Given the description of an element on the screen output the (x, y) to click on. 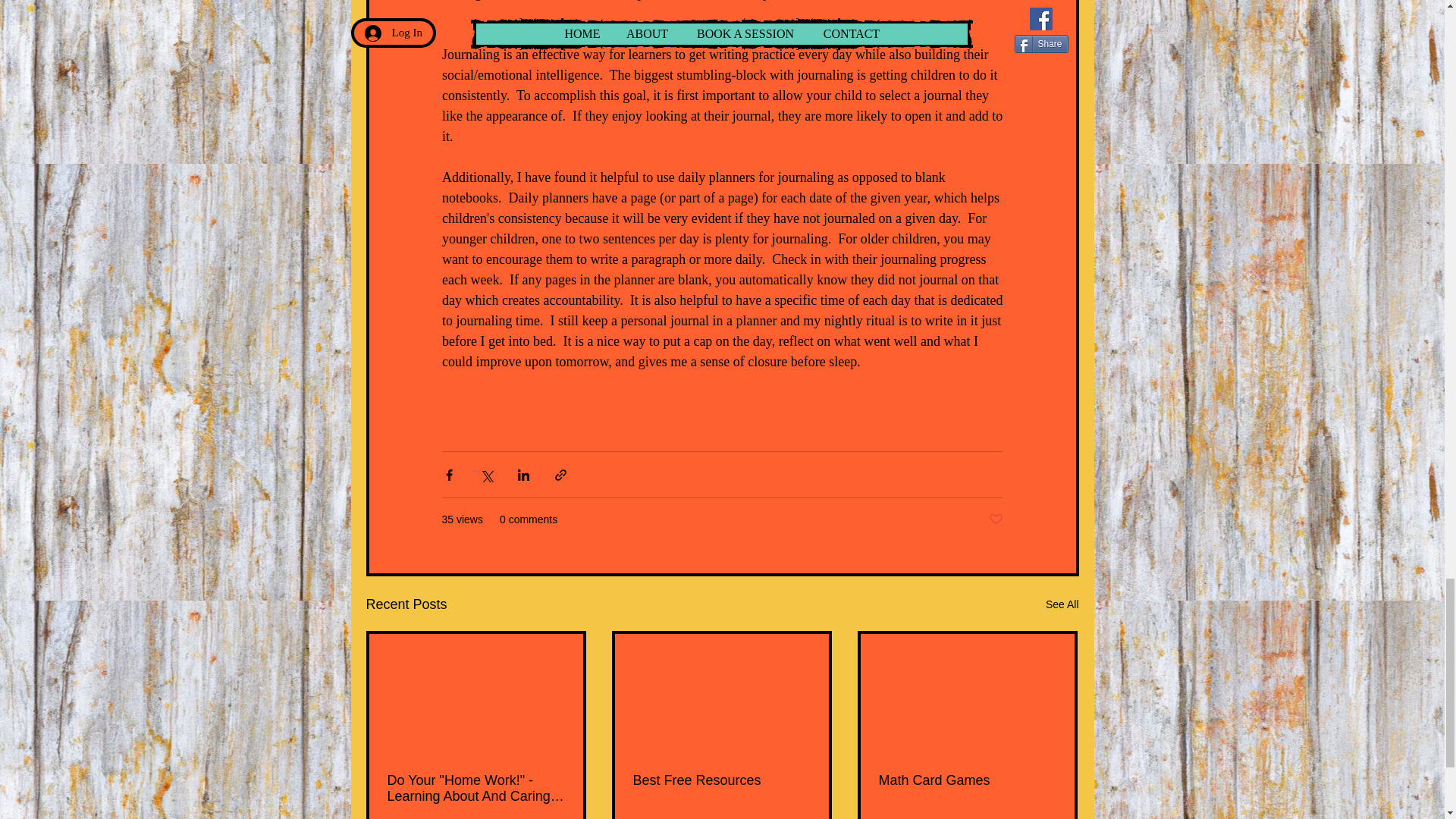
Math Card Games (966, 780)
Do Your "Home Work!" - Learning About And Caring for Nature (475, 788)
See All (1061, 604)
Best Free Resources (720, 780)
Post not marked as liked (995, 519)
